Given the description of an element on the screen output the (x, y) to click on. 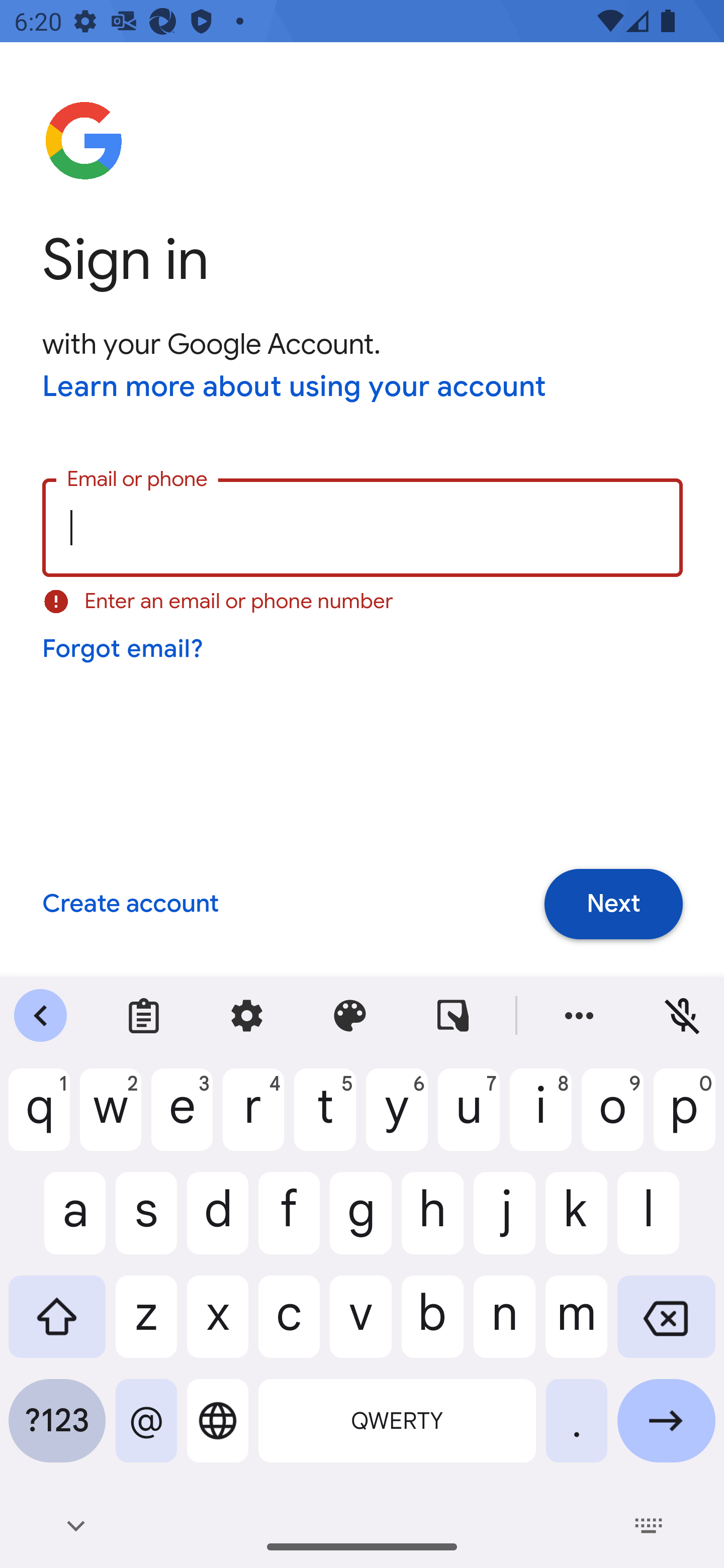
Learn more about using your account (294, 388)
Forgot email? (123, 648)
Create account (129, 904)
Next (613, 904)
